Given the description of an element on the screen output the (x, y) to click on. 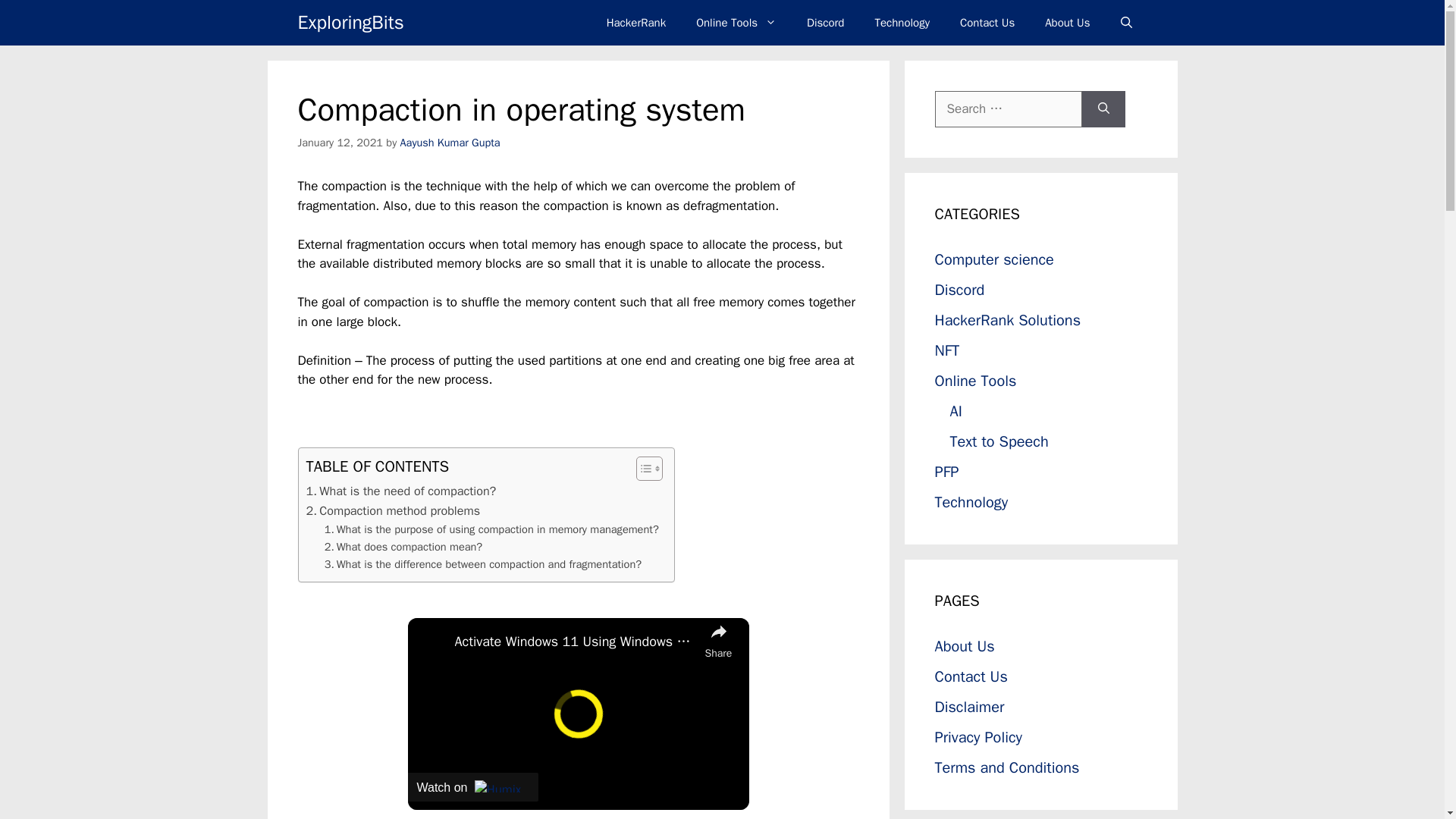
Online Tools (975, 380)
Technology (901, 22)
Compaction method problems  (394, 510)
What does compaction mean? (402, 547)
ExploringBits (350, 22)
Online Tools (736, 22)
Search for: (1007, 108)
What does compaction mean? (402, 547)
